Given the description of an element on the screen output the (x, y) to click on. 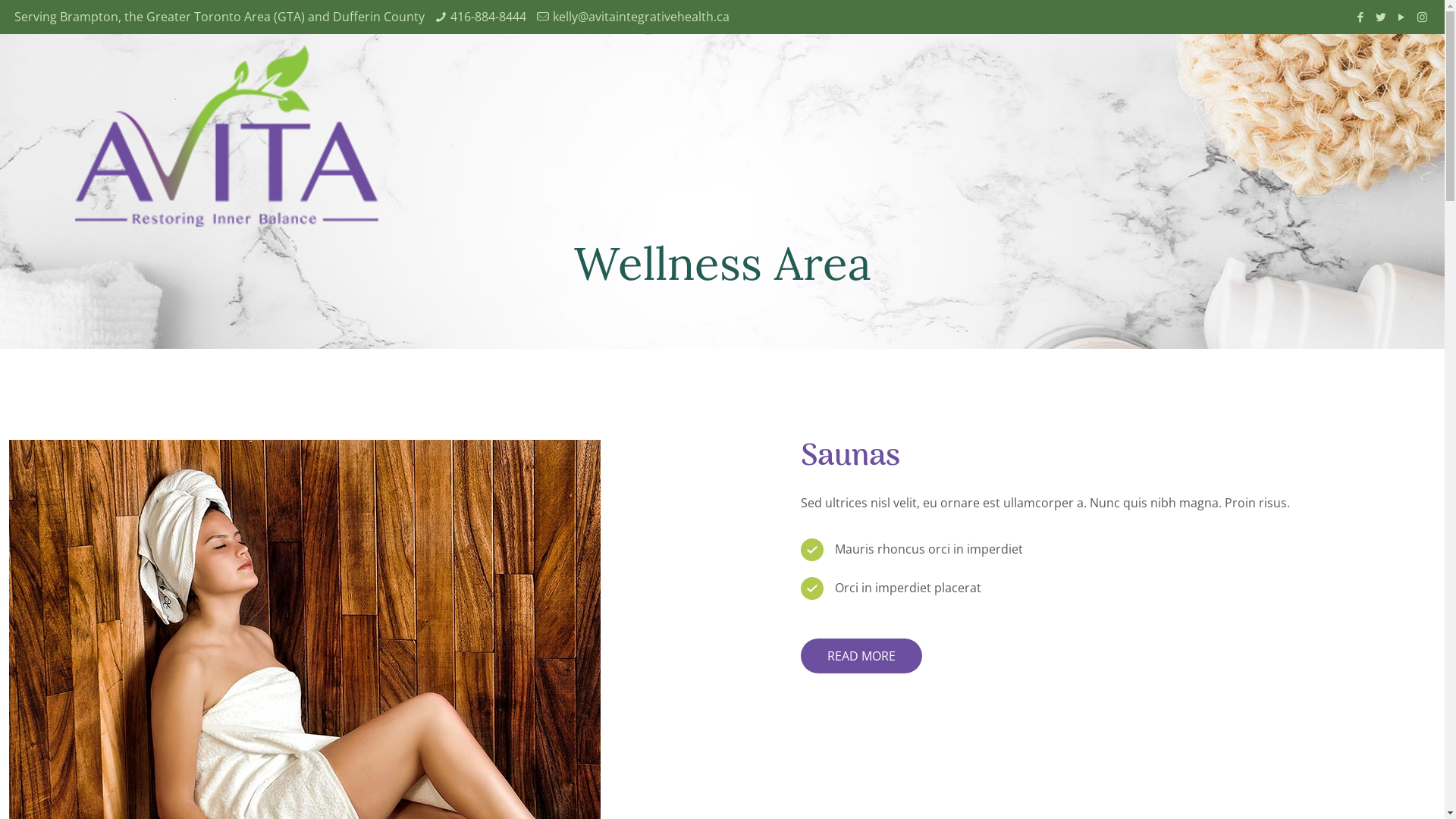
YouTube Element type: hover (1401, 16)
Avita Weightloss Element type: hover (226, 138)
READ MORE Element type: text (861, 655)
Twitter Element type: hover (1381, 16)
kelly@avitaintegrativehealth.ca Element type: text (640, 16)
416-884-8444 Element type: text (488, 16)
Instagram Element type: hover (1422, 16)
Facebook Element type: hover (1360, 16)
